Given the description of an element on the screen output the (x, y) to click on. 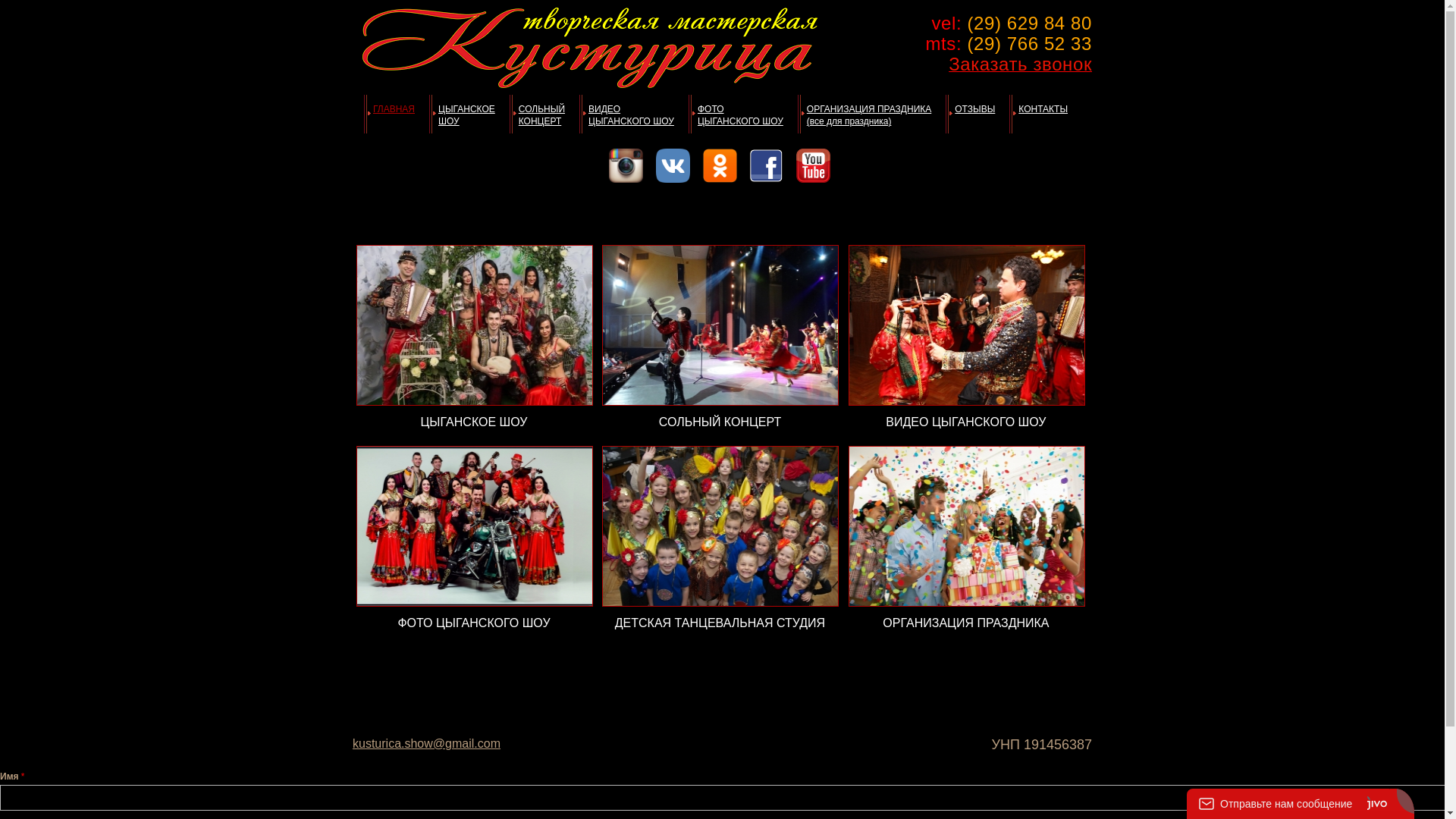
kusturica.show@gmail.com Element type: text (426, 743)
(29) 766 52 33 Element type: text (1029, 43)
(29) 629 84 80 Element type: text (1029, 22)
